Given the description of an element on the screen output the (x, y) to click on. 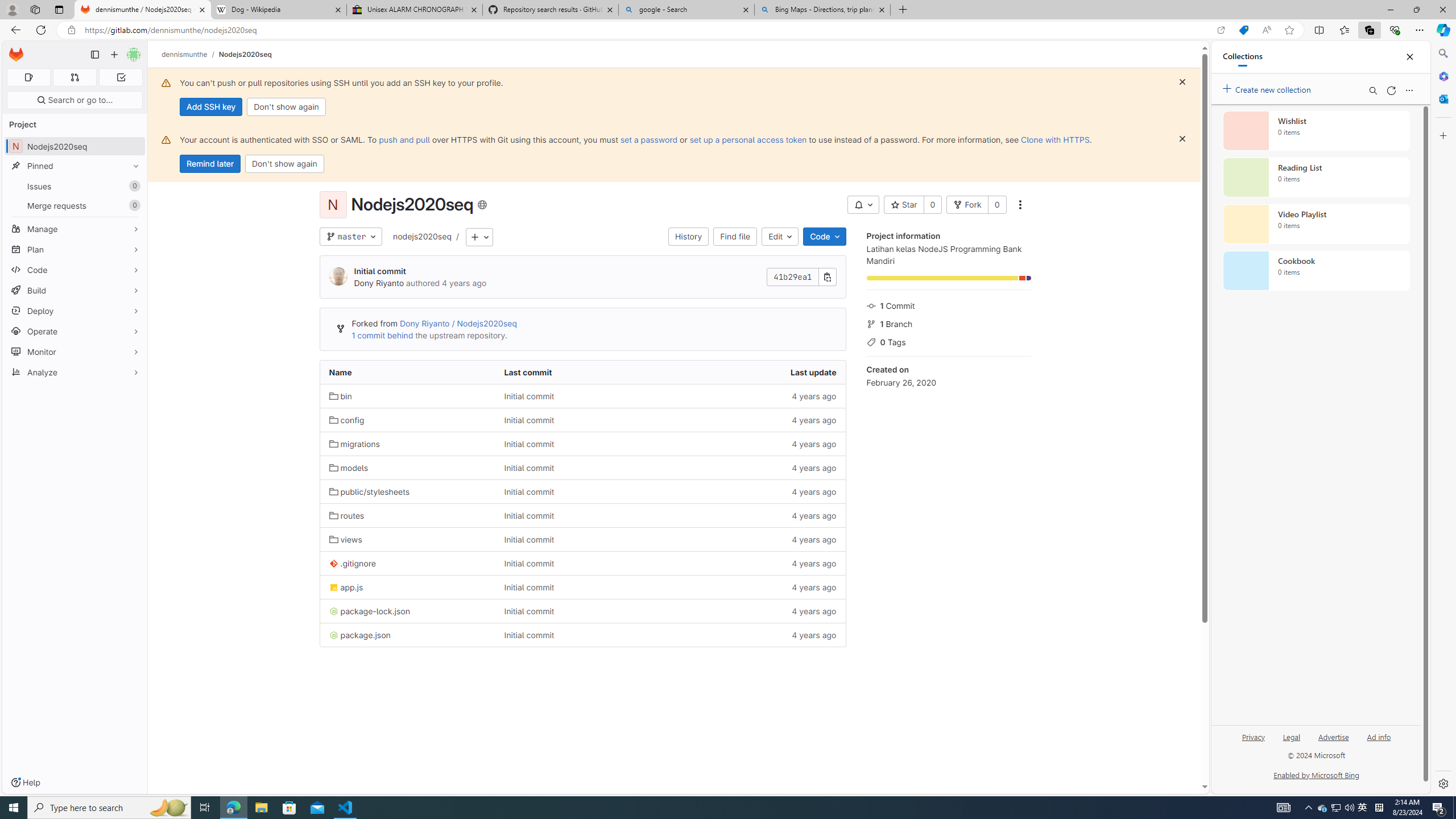
Manage (74, 228)
.gitignore (407, 563)
Class: s16 gl-icon gl-button-icon  (1181, 138)
Nodejs2020seq (245, 53)
Legal (1292, 741)
nodejs2020seq (422, 236)
Create new... (113, 54)
More options menu (1409, 90)
app.js (407, 586)
Analyze (74, 371)
Video Playlist collection, 0 items (1316, 223)
Browser essentials (1394, 29)
routes (346, 515)
models (407, 467)
